Given the description of an element on the screen output the (x, y) to click on. 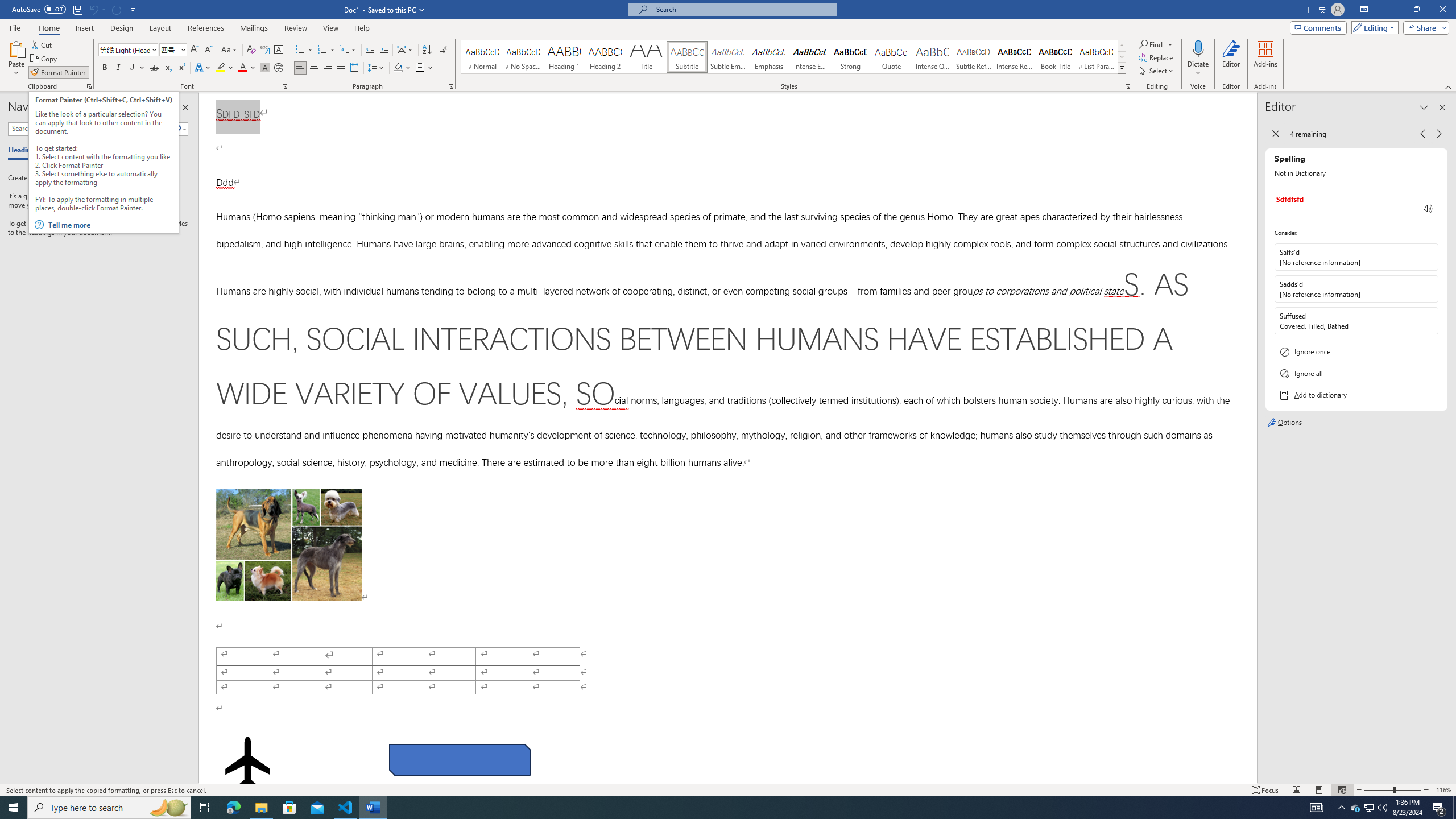
Zoom Out (1378, 790)
Add to dictionary (1356, 395)
AutomationID: DrillInPane_ReadContext (1428, 208)
Intense Emphasis (809, 56)
Align Left (300, 67)
Ribbon Display Options (1364, 9)
Shading (402, 67)
Tell me more (111, 225)
Clear Formatting (250, 49)
Restore Down (1416, 9)
Enclose Characters... (278, 67)
Customize Quick Access Toolbar (133, 9)
